Given the description of an element on the screen output the (x, y) to click on. 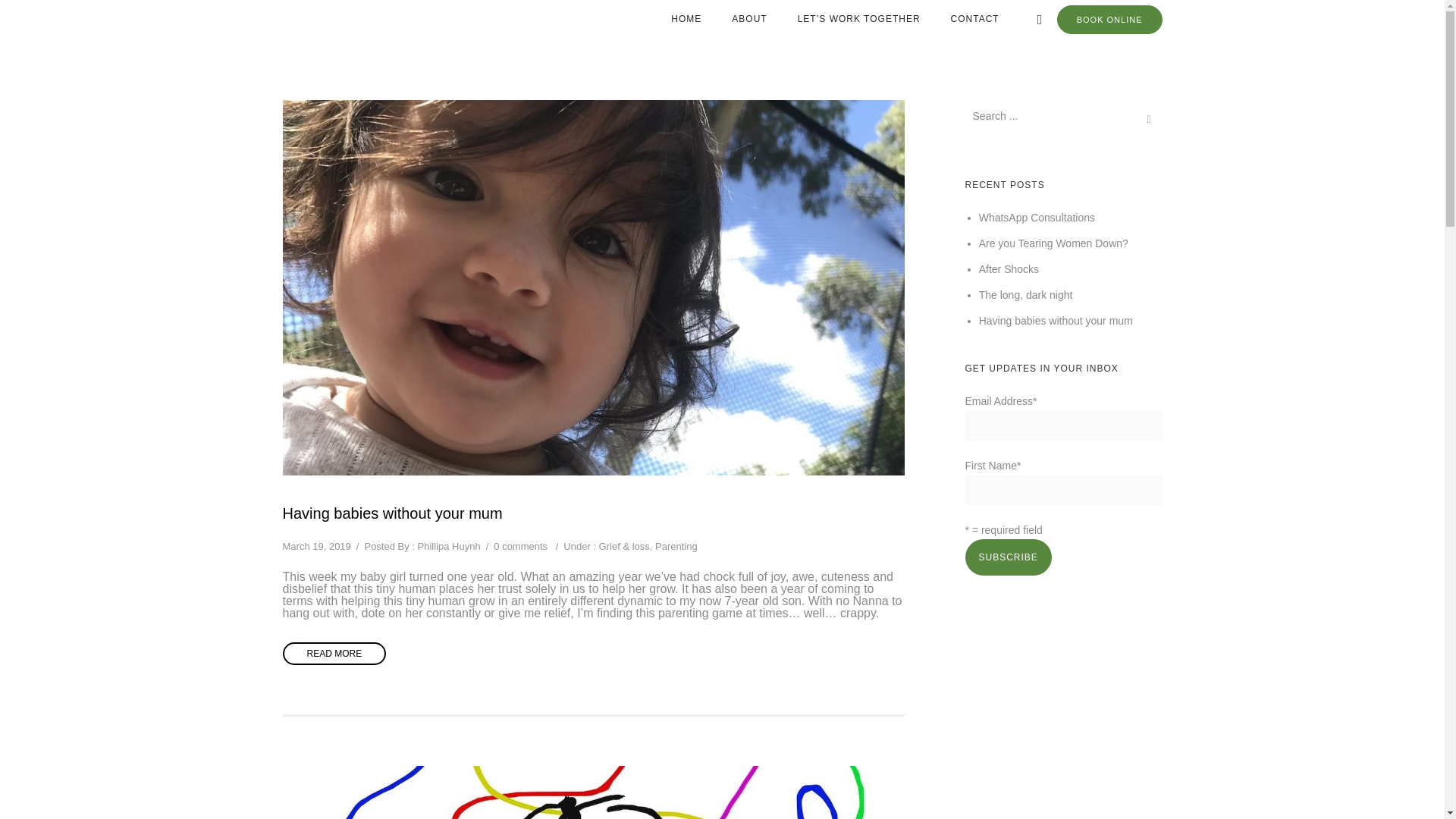
Contact (975, 18)
Subscribe (1007, 556)
WhatsApp Consultations (1036, 217)
Are you Tearing Women Down? (1053, 243)
CONTACT (975, 18)
ABOUT (748, 18)
HOME (686, 18)
Let's work together (859, 18)
About (748, 18)
Parenting (676, 546)
